Given the description of an element on the screen output the (x, y) to click on. 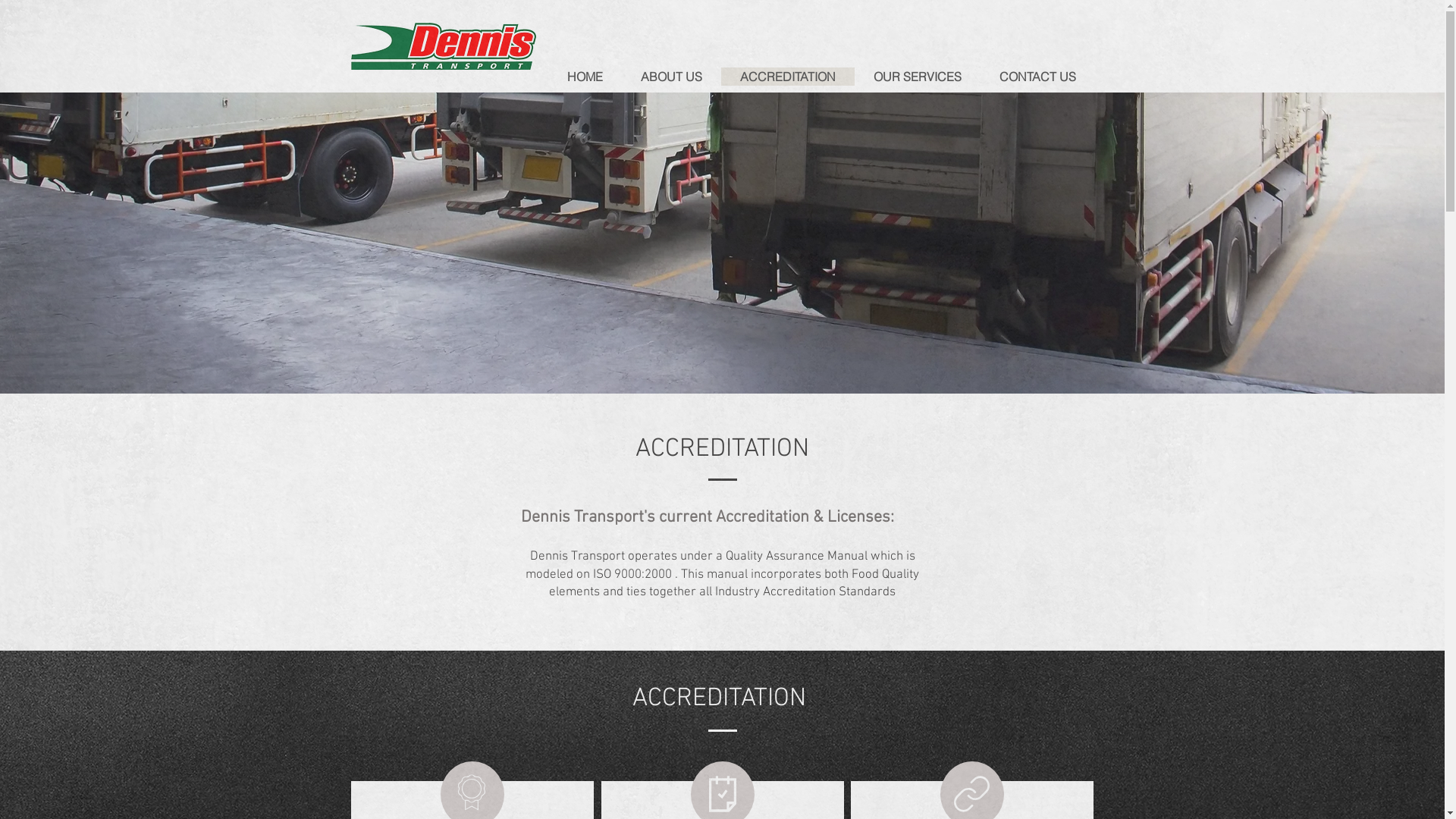
ABOUT US Element type: text (671, 76)
OUR SERVICES Element type: text (916, 76)
CONTACT US Element type: text (1036, 76)
ACCREDITATION Element type: text (786, 76)
HOME Element type: text (585, 76)
